Given the description of an element on the screen output the (x, y) to click on. 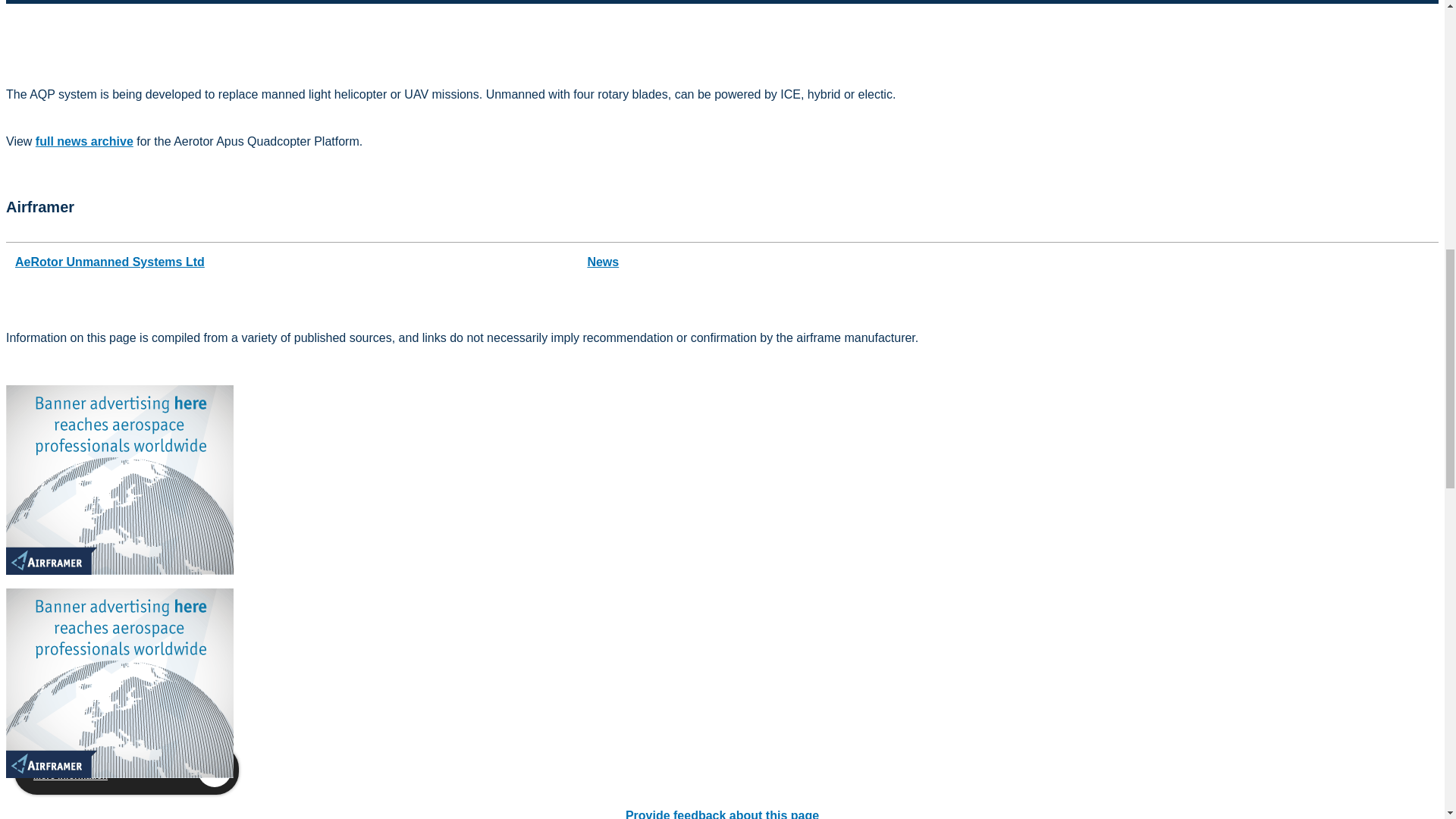
News (602, 261)
Provide feedback about this page (722, 814)
full news archive (83, 141)
AeRotor Unmanned Systems Ltd (109, 261)
